Given the description of an element on the screen output the (x, y) to click on. 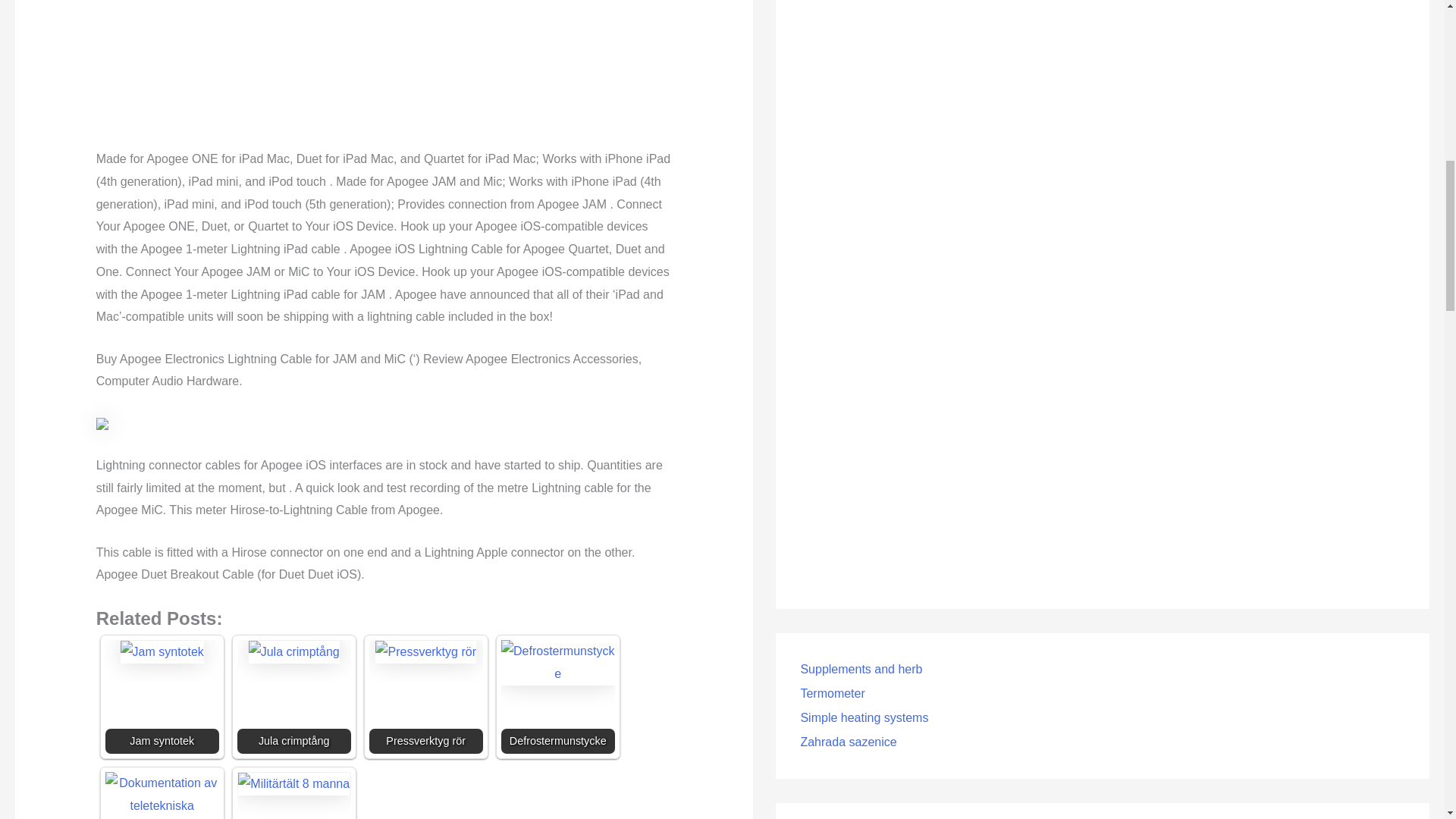
Defrostermunstycke (557, 696)
Defrostermunstycke (557, 661)
Supplements and herb (860, 668)
Zahrada sazenice (847, 741)
Jam syntotek (161, 696)
Simple heating systems (863, 717)
Termometer (831, 693)
Jam syntotek (161, 651)
